Given the description of an element on the screen output the (x, y) to click on. 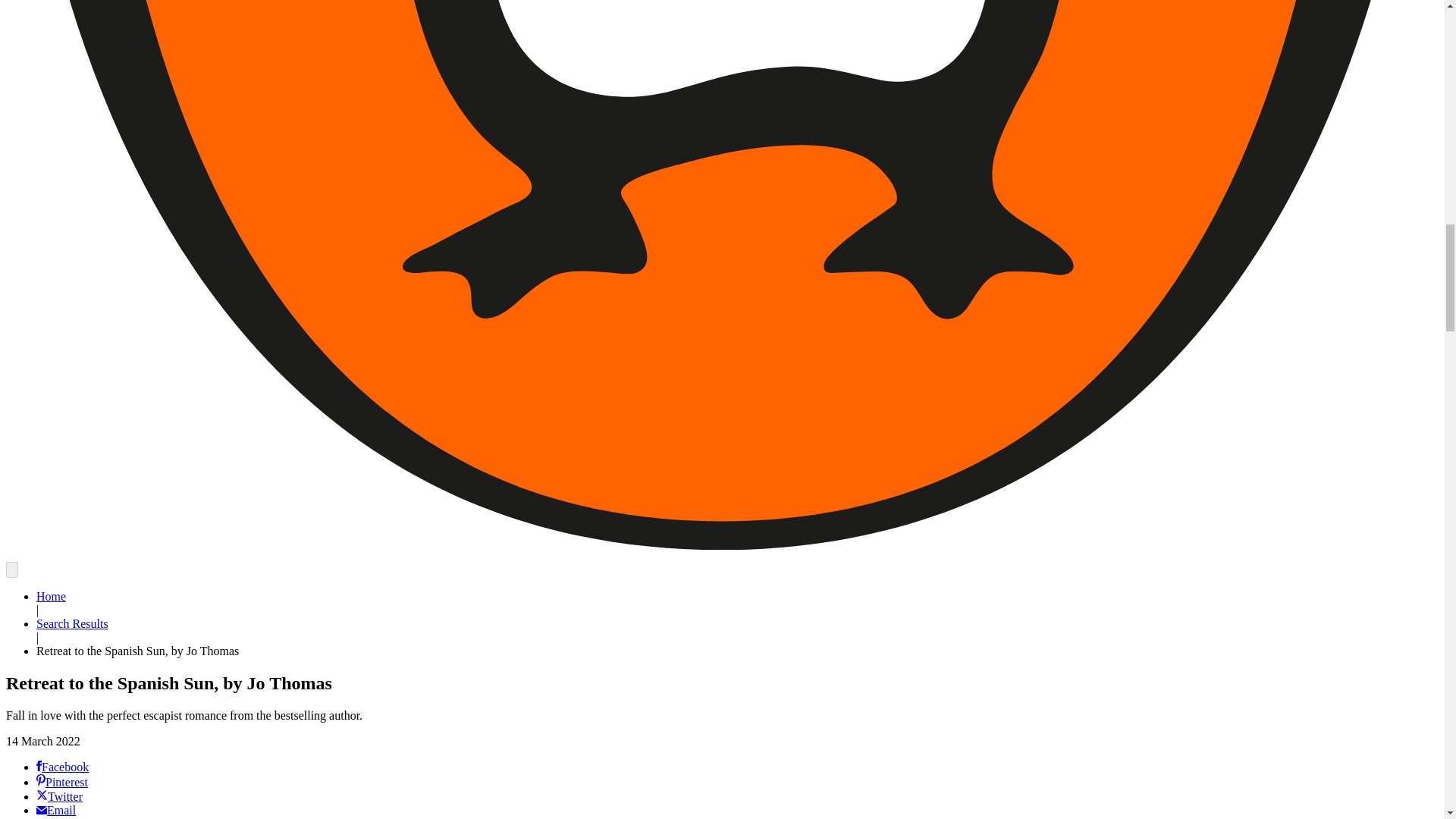
Search Results (71, 623)
Twitter (59, 796)
Email (55, 809)
Home (50, 595)
Pinterest (61, 781)
Facebook (62, 766)
